Given the description of an element on the screen output the (x, y) to click on. 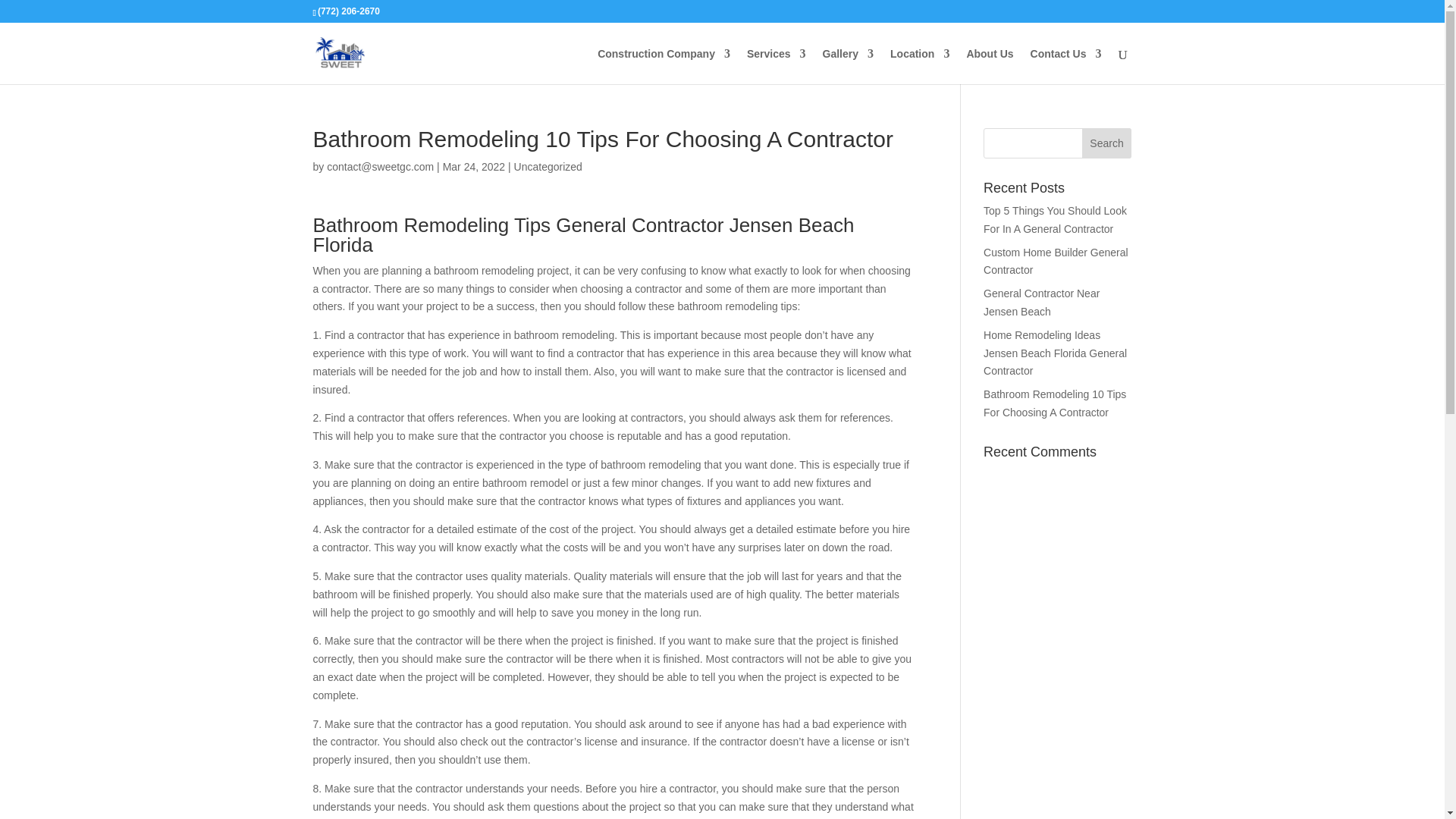
Construction Company (663, 66)
Contact Us (1066, 66)
Services (776, 66)
Search (1106, 142)
About Us (989, 66)
Gallery (847, 66)
Location (919, 66)
